Given the description of an element on the screen output the (x, y) to click on. 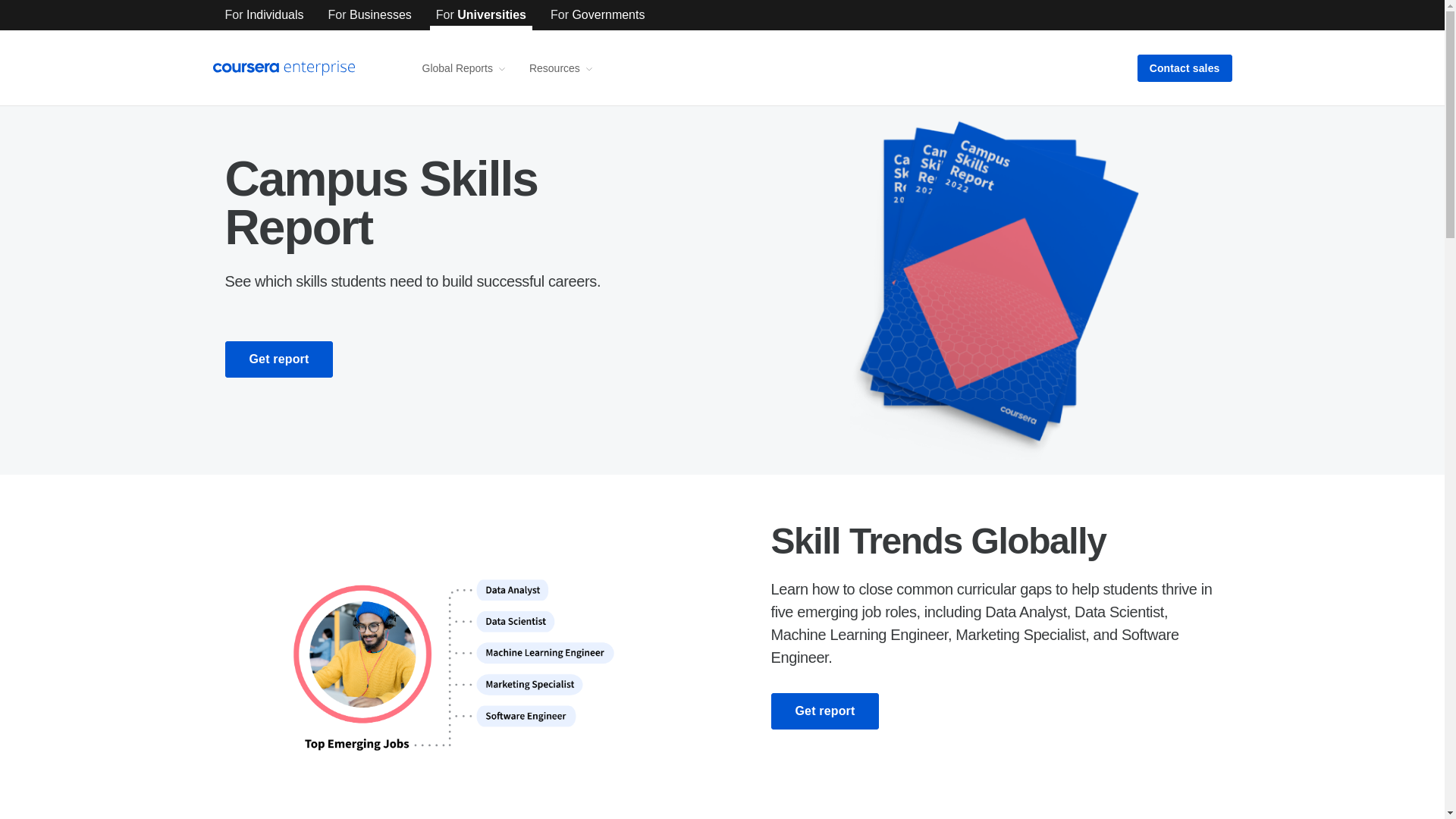
Global Reports (463, 68)
Get report (278, 359)
Get report (824, 710)
Contact sales (1184, 67)
For Governments (597, 15)
For Businesses (369, 15)
For Universities (480, 15)
For Individuals (263, 15)
Resources (560, 68)
